Given the description of an element on the screen output the (x, y) to click on. 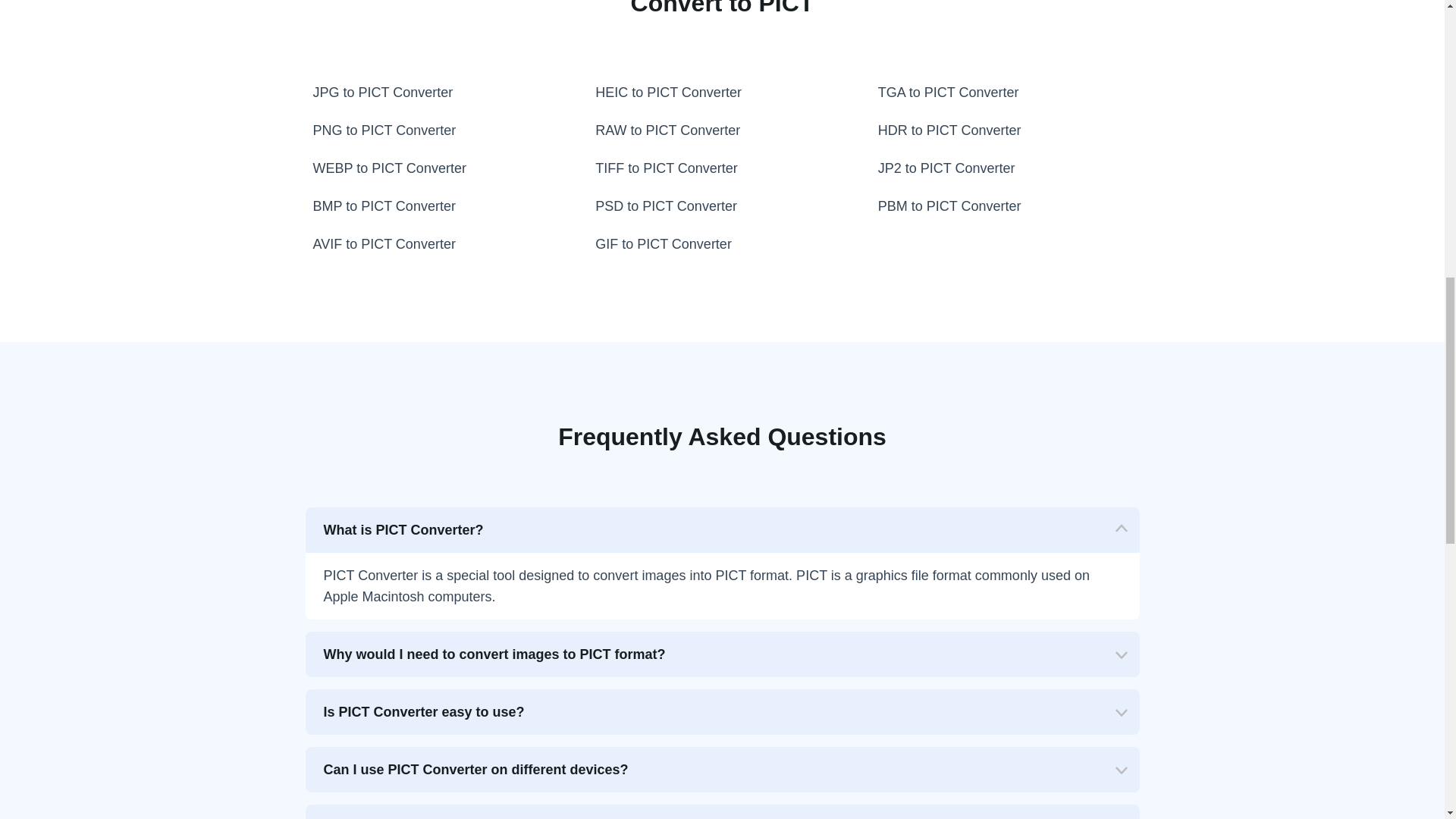
RAW to PICT Converter (722, 130)
WEBP to PICT Converter (438, 168)
PNG to PICT Converter (438, 130)
HEIC to PICT Converter (722, 92)
PBM to PICT Converter (1005, 206)
HDR to PICT Converter (1005, 130)
GIF to PICT Converter (722, 243)
AVIF to PICT Converter (438, 243)
JP2 to PICT Converter (1005, 168)
TGA to PICT Converter (1005, 92)
JPG to PICT Converter (438, 92)
BMP to PICT Converter (438, 206)
TIFF to PICT Converter (722, 168)
PSD to PICT Converter (722, 206)
